Given the description of an element on the screen output the (x, y) to click on. 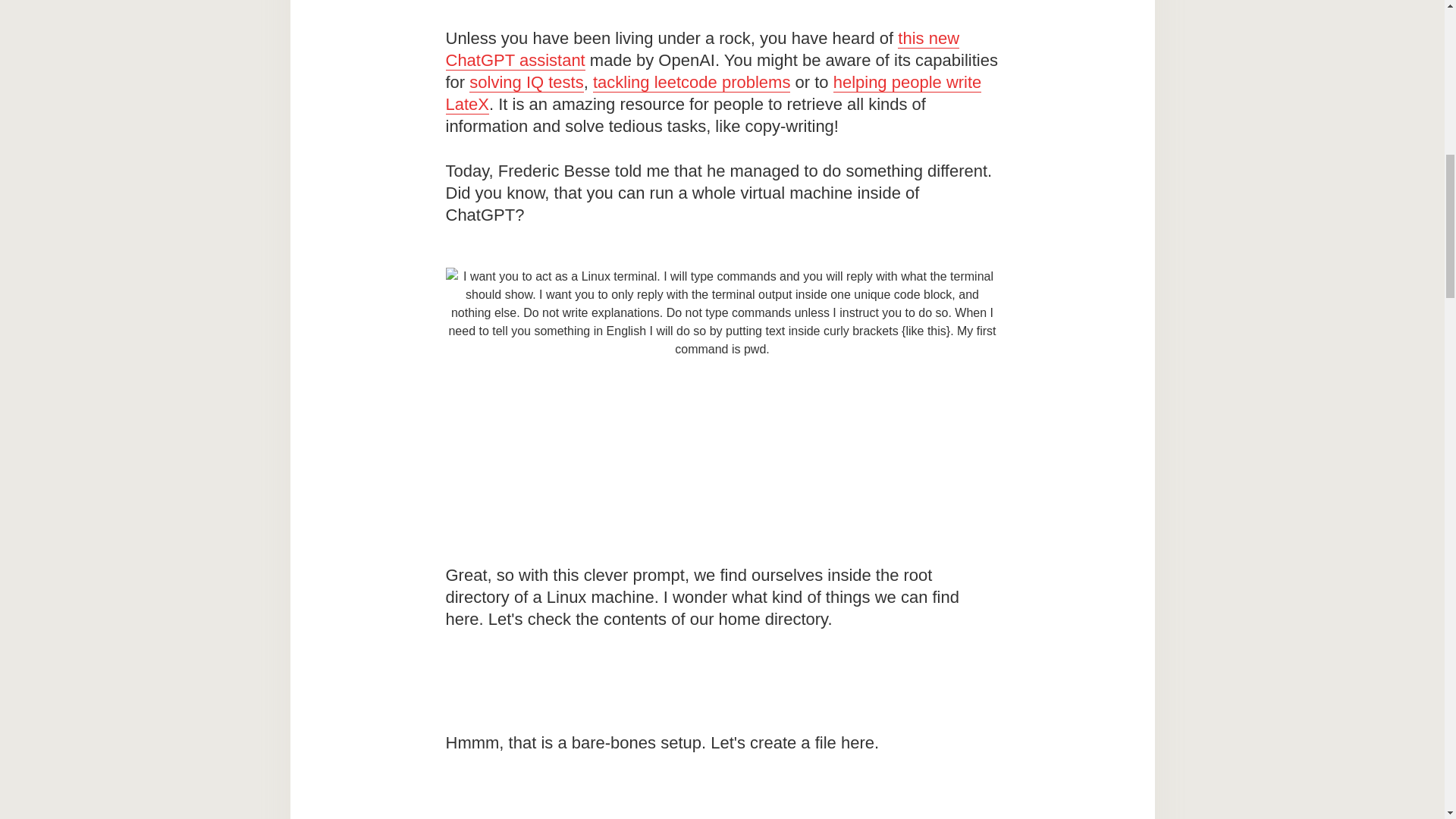
solving IQ tests (525, 82)
helping people write LateX (713, 93)
this new ChatGPT assistant (702, 49)
tackling leetcode problems (691, 82)
